Given the description of an element on the screen output the (x, y) to click on. 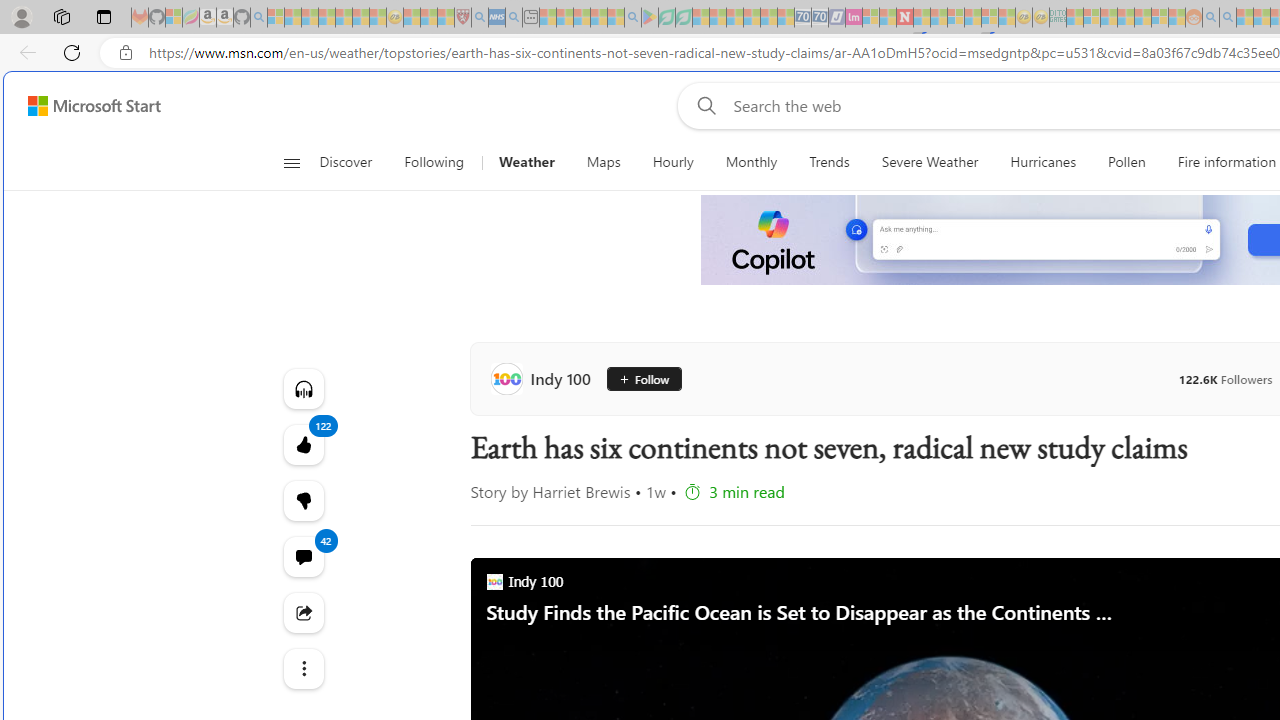
Severe Weather (929, 162)
utah sues federal government - Search - Sleeping (513, 17)
Jobs - lastminute.com Investor Portal - Sleeping (853, 17)
Share this story (302, 612)
Hurricanes (1042, 162)
Listen to this article (302, 388)
